Given the description of an element on the screen output the (x, y) to click on. 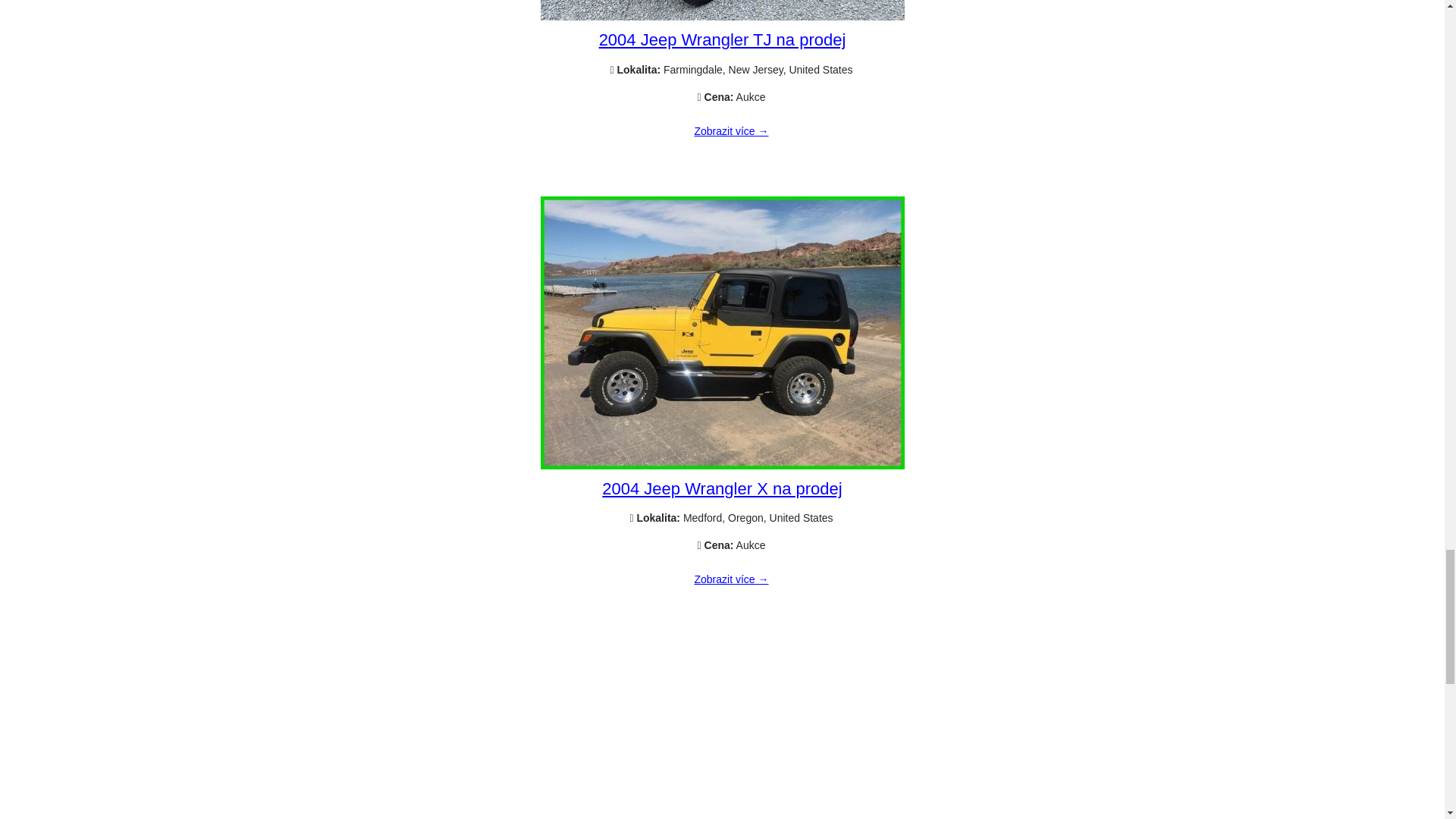
2004 Jeep Wrangler X na prodej (721, 488)
2004 Jeep Wrangler X na prodej (722, 465)
2004 Jeep Wrangler TJ na prodej (722, 16)
2004 Jeep Wrangler X na prodej (731, 579)
2004 Jeep Wrangler TJ na prodej (721, 39)
2004 Jeep Wrangler TJ na prodej (731, 131)
